Given the description of an element on the screen output the (x, y) to click on. 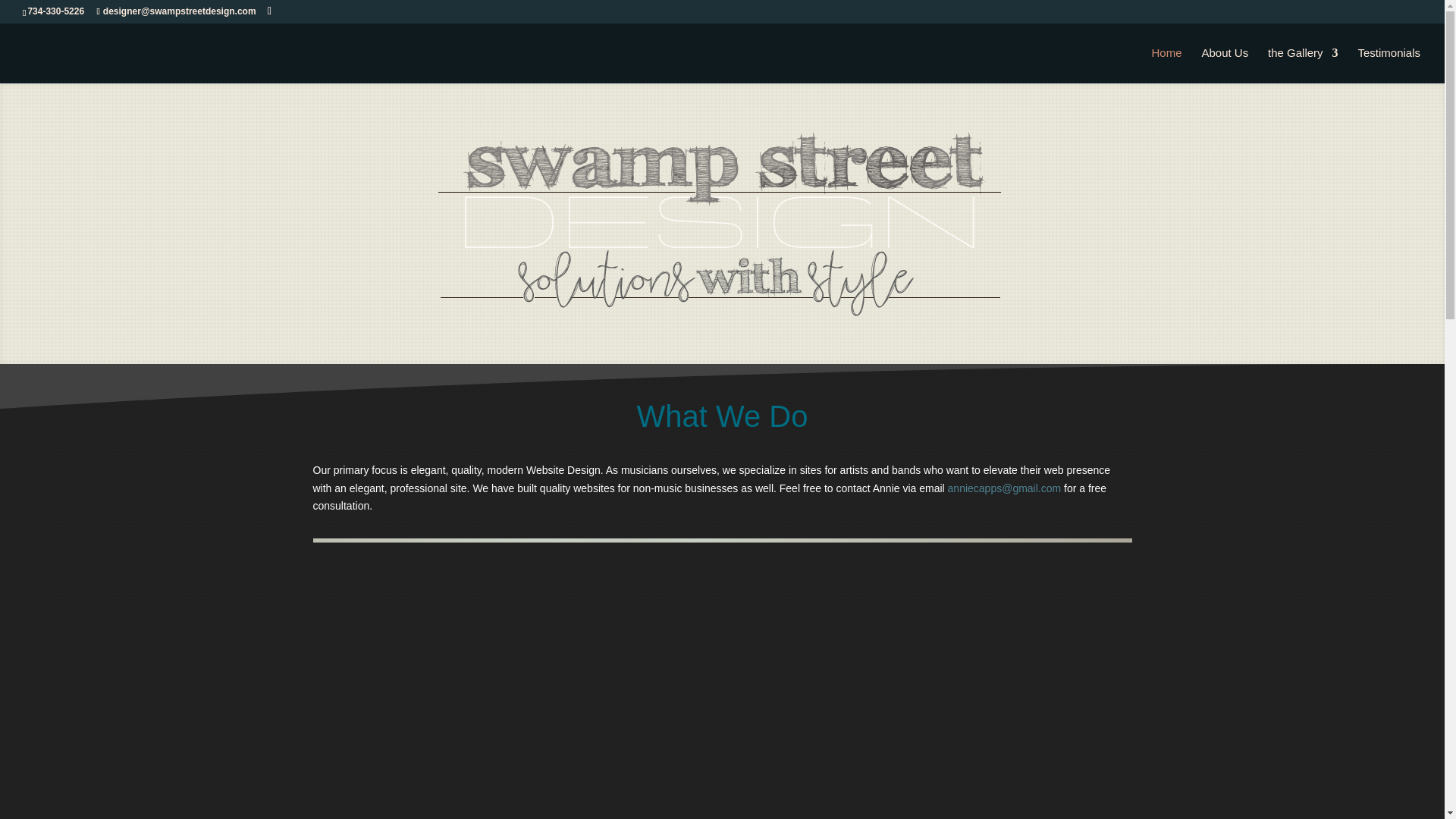
Testimonials (1388, 65)
About Us (1224, 65)
the Gallery (1303, 65)
